Given the description of an element on the screen output the (x, y) to click on. 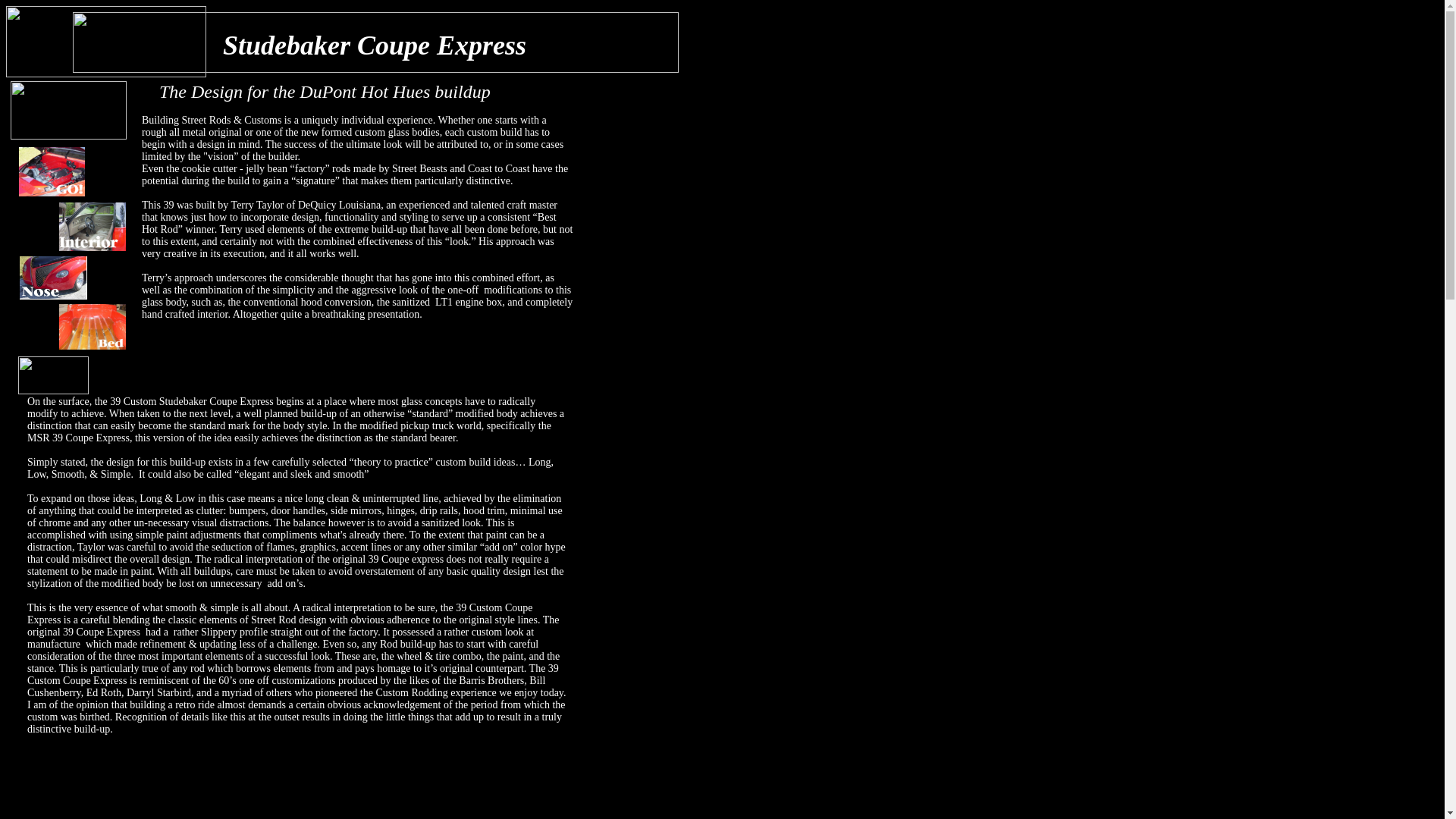
Advertisement Element type: hover (664, 372)
